Given the description of an element on the screen output the (x, y) to click on. 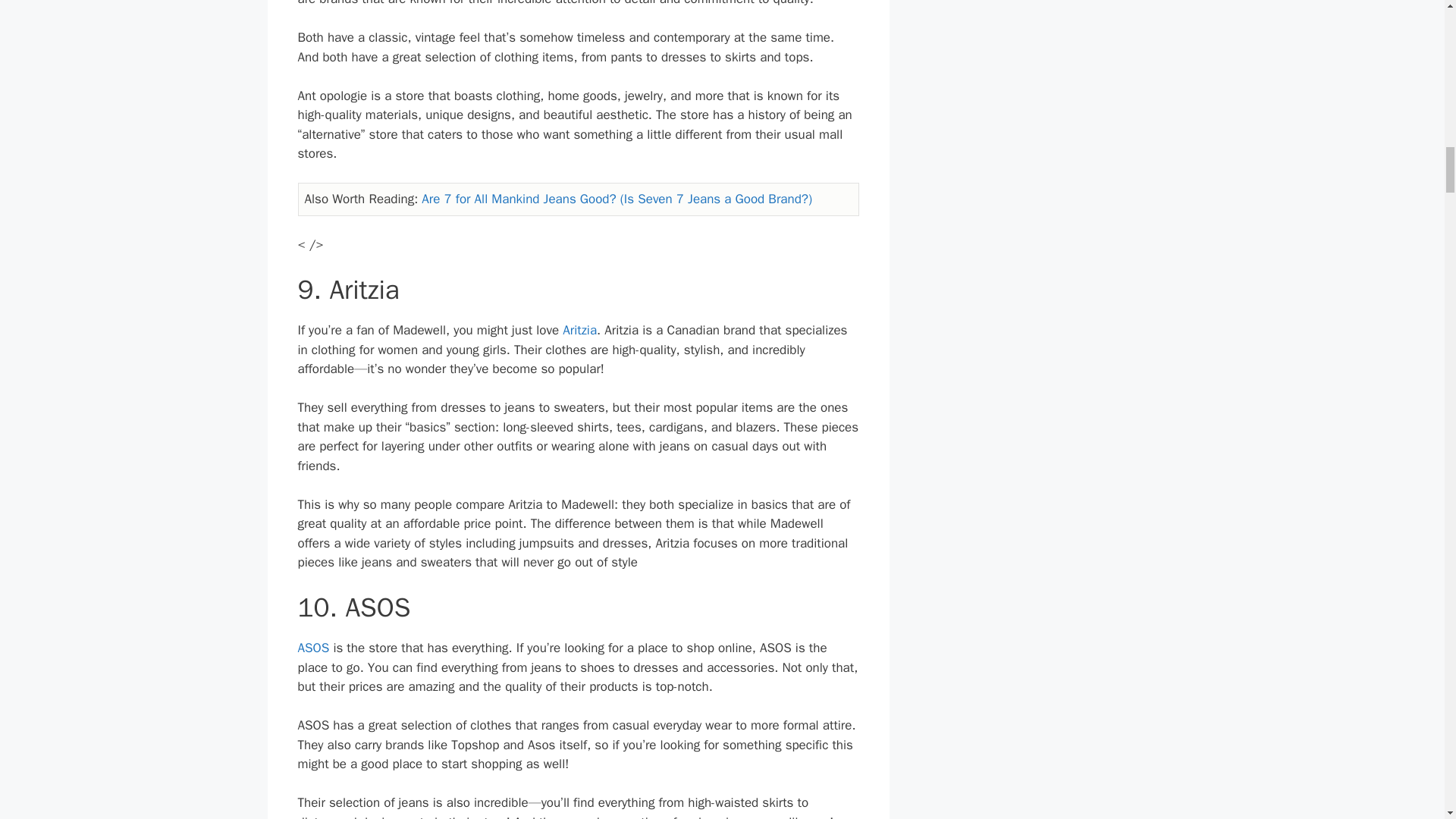
Aritzia (579, 330)
ASOS (313, 647)
